Given the description of an element on the screen output the (x, y) to click on. 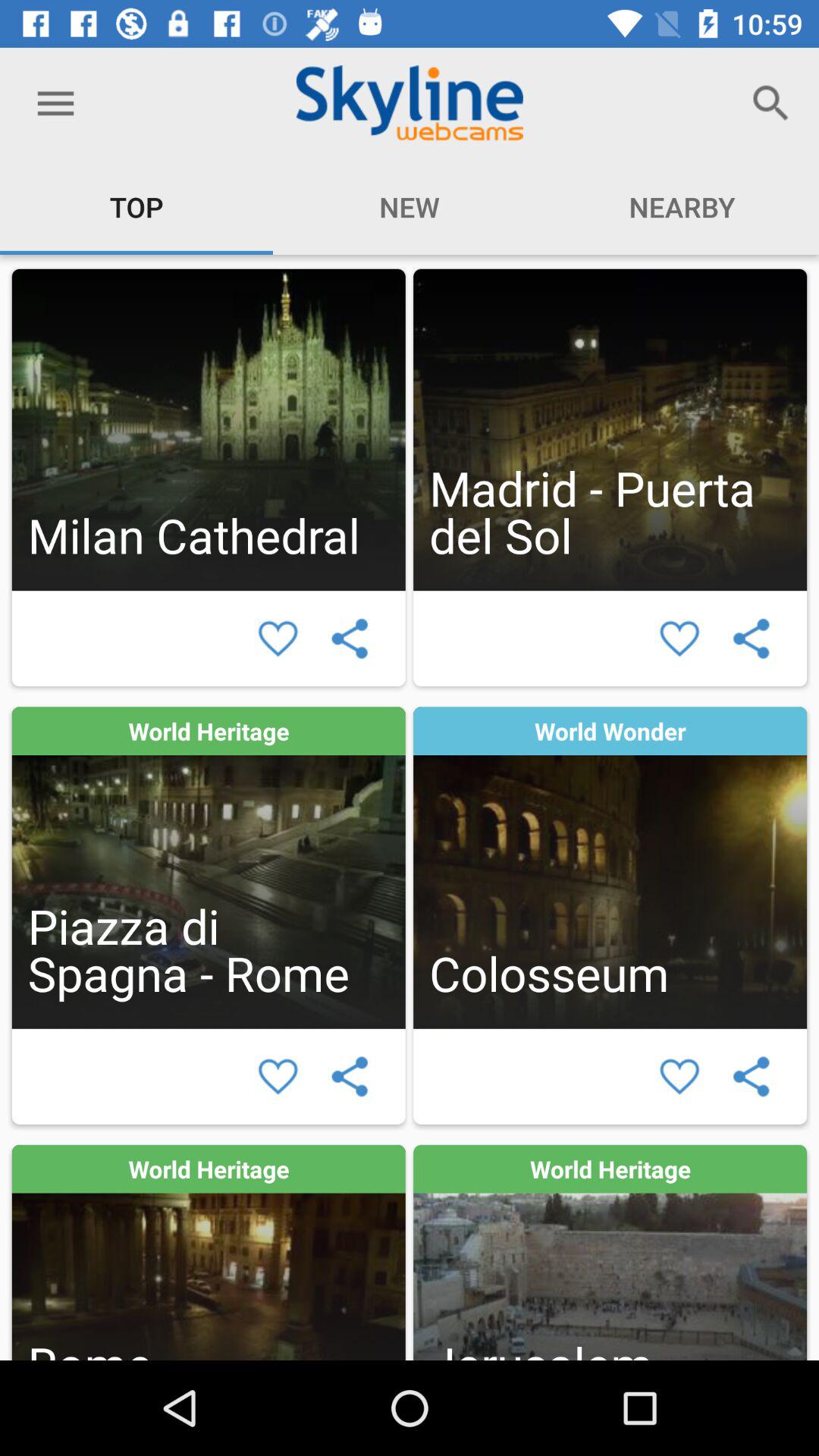
favorite the picture (278, 638)
